Given the description of an element on the screen output the (x, y) to click on. 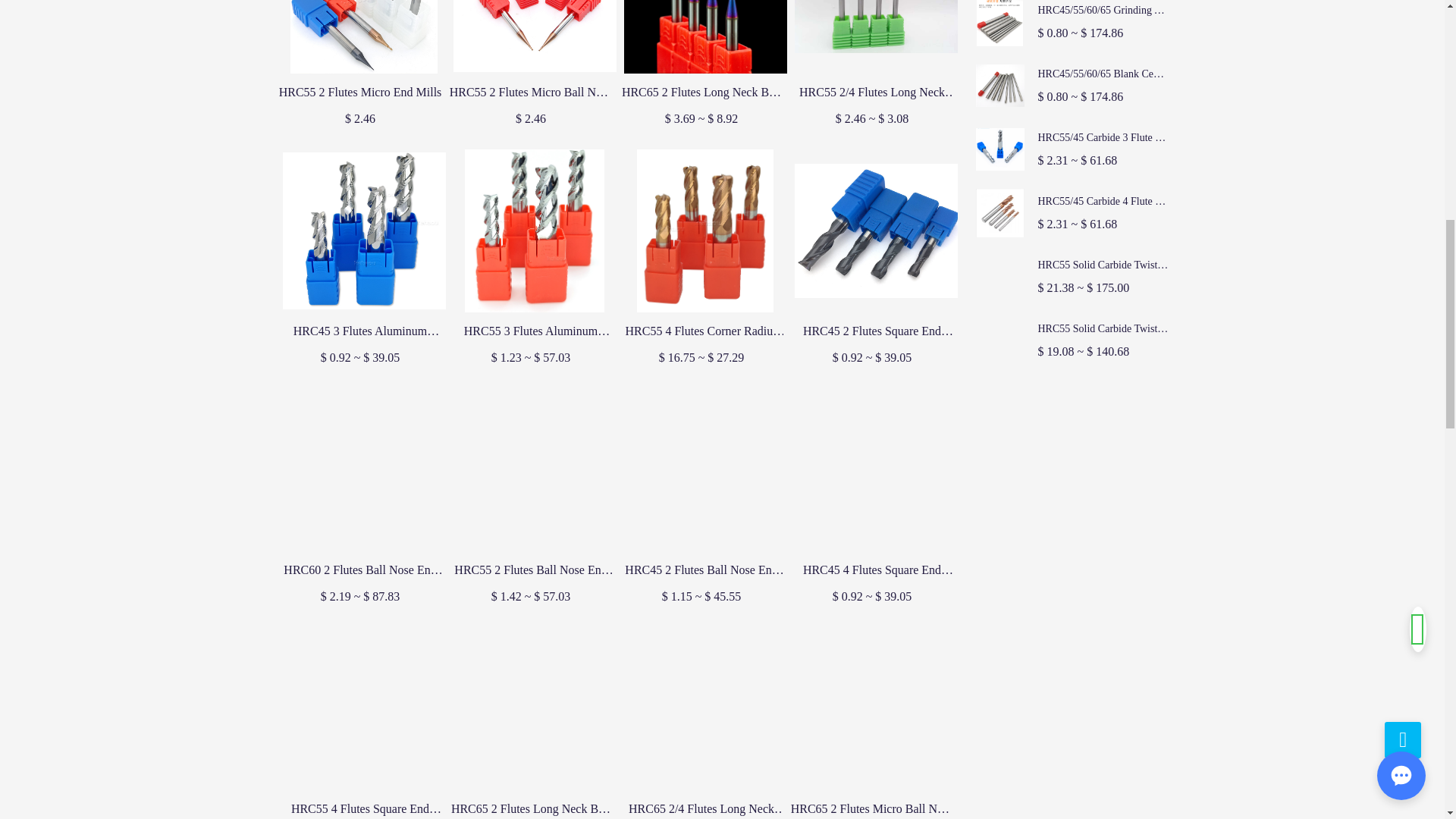
HRC55 2 Flutes Micro Ball Nose End Mills (529, 92)
HRC55 3 Flutes Aluminum Square End mill (529, 331)
HRC45 2 Flutes Square End Mills (871, 331)
HRC45 2 Flutes Ball Nose End Mills (701, 570)
HRC65 2 Flutes Long Neck Ball Nose End Mills (529, 808)
HRC55 2 Flutes Micro End Mills (360, 92)
HRC55 2 Flutes Ball Nose End Mills (529, 570)
HRC65 2 Flutes Long Neck Ball Nose End Mills (701, 92)
HRC65 2 Flutes Micro Ball Nose End Mills (871, 808)
HRC55 4 Flutes  Corner Radius End Mills (701, 331)
HRC55 4 Flutes Square End Mills (360, 808)
HRC60 2 Flutes Ball Nose End Mills (360, 570)
HRC45 4 Flutes Square End Mills (871, 570)
HRC45 3 Flutes Aluminum Square End mill (360, 331)
